Given the description of an element on the screen output the (x, y) to click on. 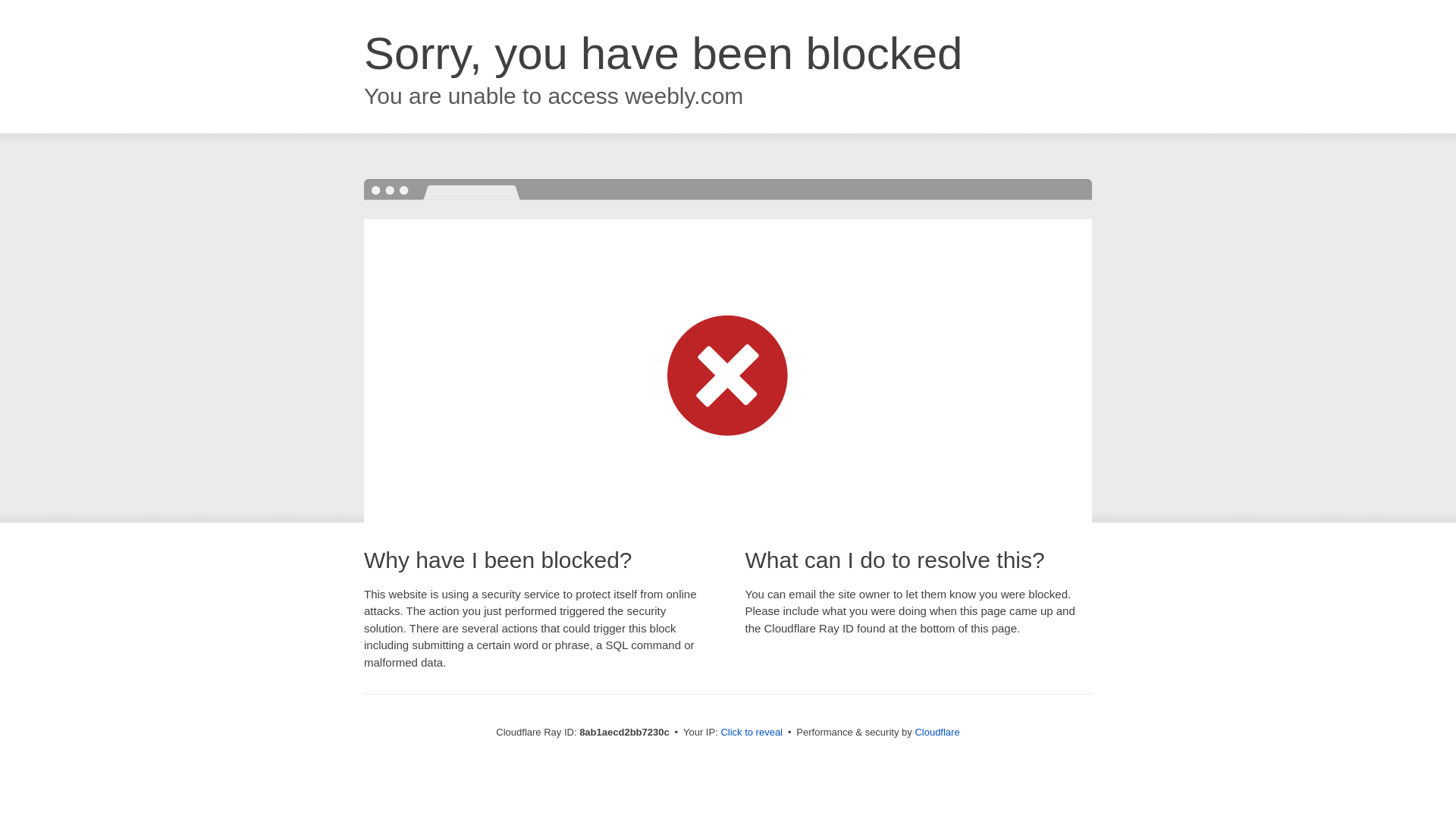
Cloudflare (936, 731)
Click to reveal (751, 732)
